Given the description of an element on the screen output the (x, y) to click on. 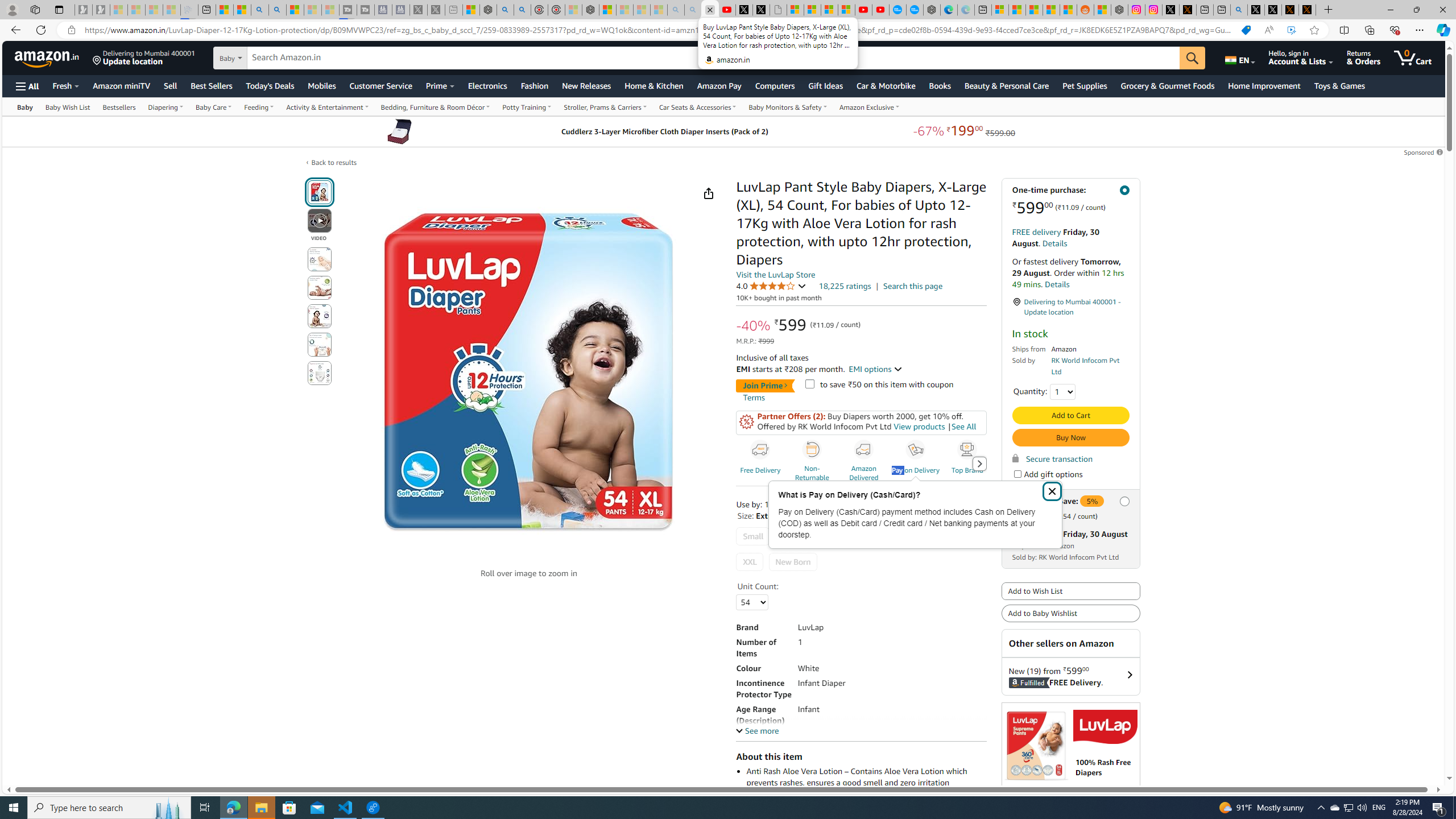
X (761, 9)
Log in to X / X (1170, 9)
help.x.com | 524: A timeout occurred (1187, 9)
Gloom - YouTube (863, 9)
Profile / X (1256, 9)
Amazon Echo Dot PNG - Search Images - Sleeping (692, 9)
